Given the description of an element on the screen output the (x, y) to click on. 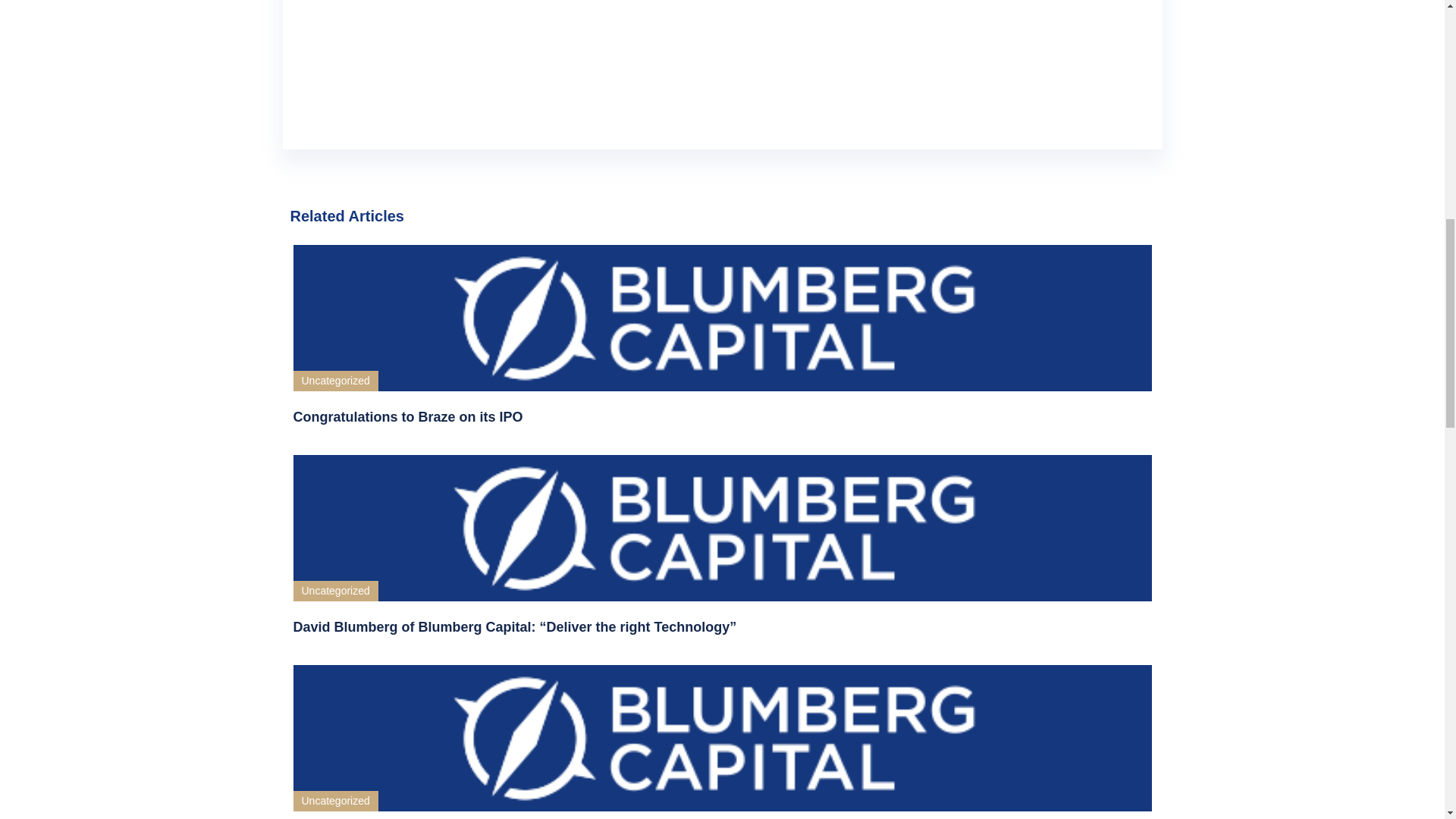
Congratulations to Braze on its IPO (721, 416)
Uncategorized (334, 381)
Uncategorized (334, 801)
Congratulations to Braze on its IPO (721, 416)
Uncategorized (334, 590)
